Given the description of an element on the screen output the (x, y) to click on. 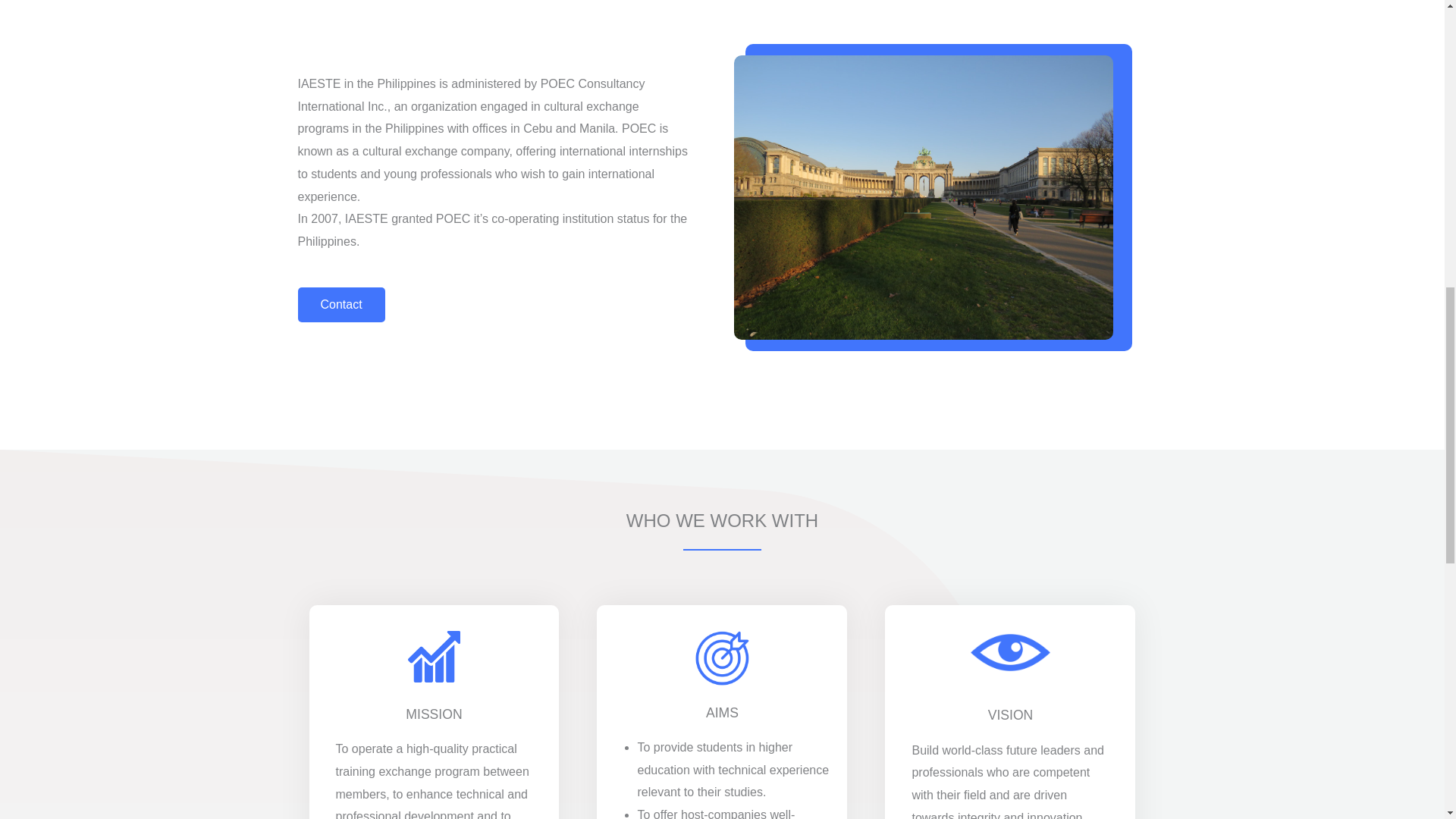
Contact (340, 304)
